Given the description of an element on the screen output the (x, y) to click on. 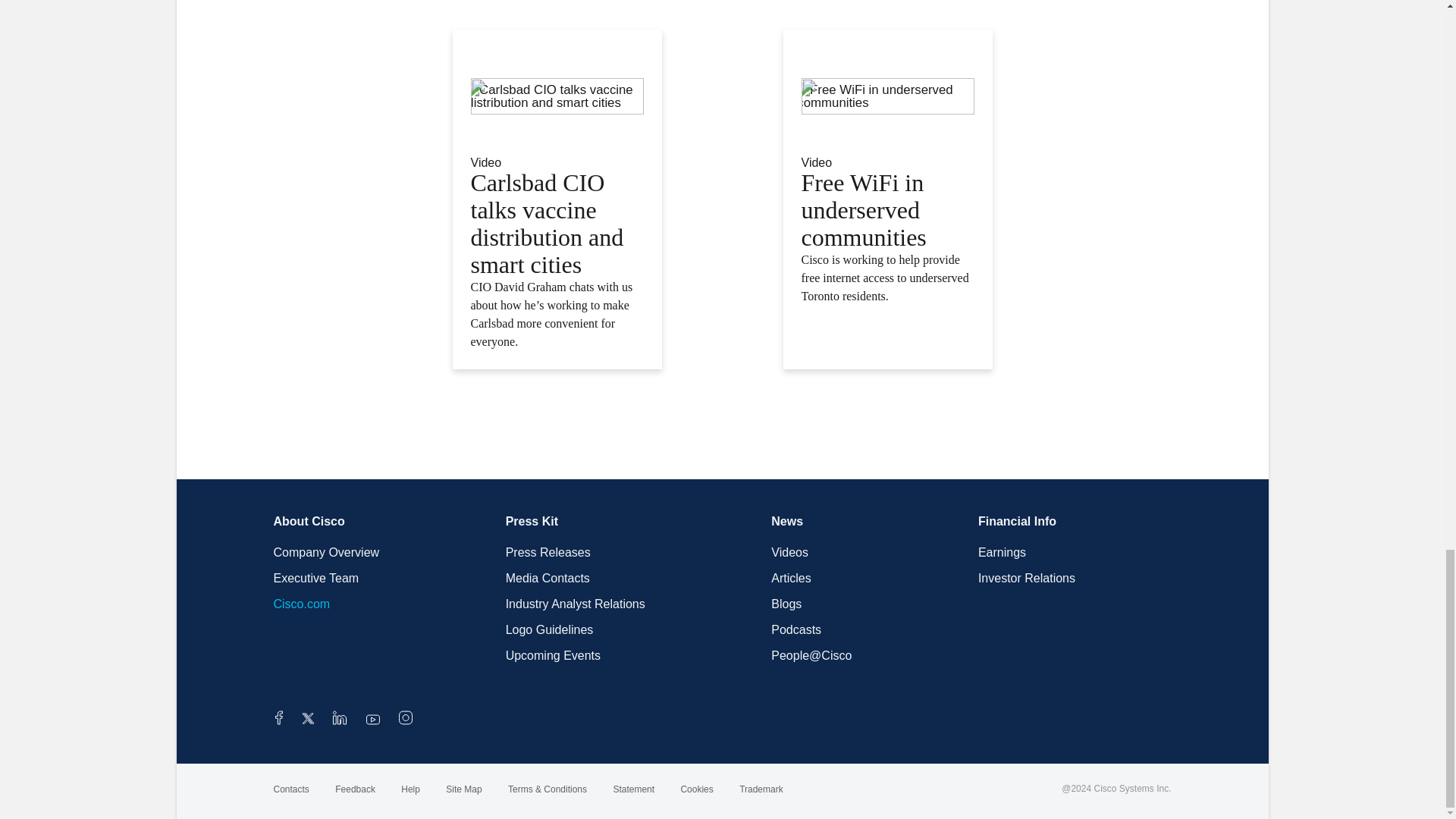
linkedin (340, 720)
youtube (373, 720)
instagram (405, 720)
twitter (309, 720)
facebook (278, 720)
